Given the description of an element on the screen output the (x, y) to click on. 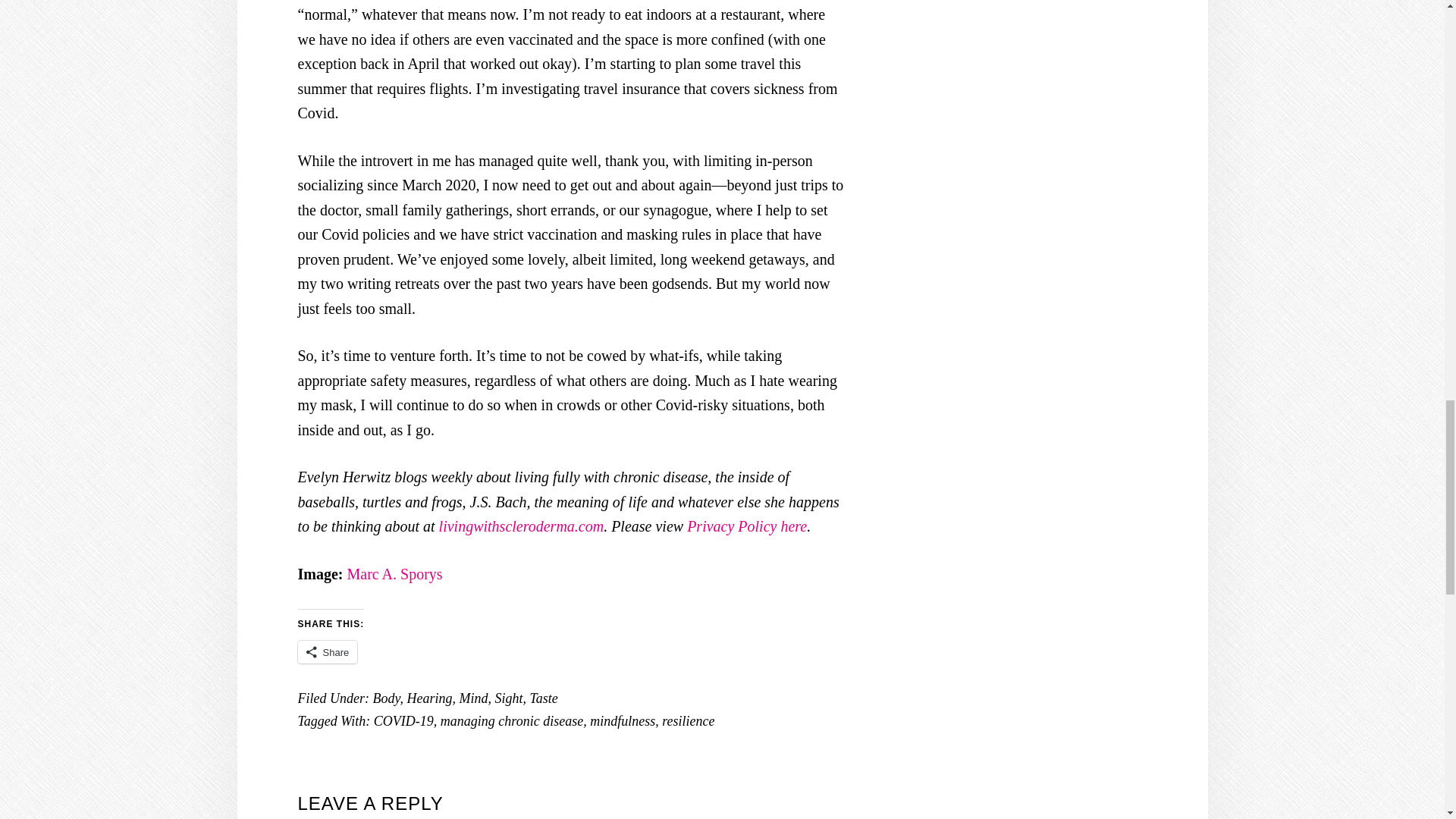
Sight (508, 698)
Body (385, 698)
livingwithscleroderma.com (521, 525)
Mind (472, 698)
Privacy Policy here (746, 525)
Hearing (428, 698)
Share (326, 651)
Marc A. Sporys (394, 573)
